Given the description of an element on the screen output the (x, y) to click on. 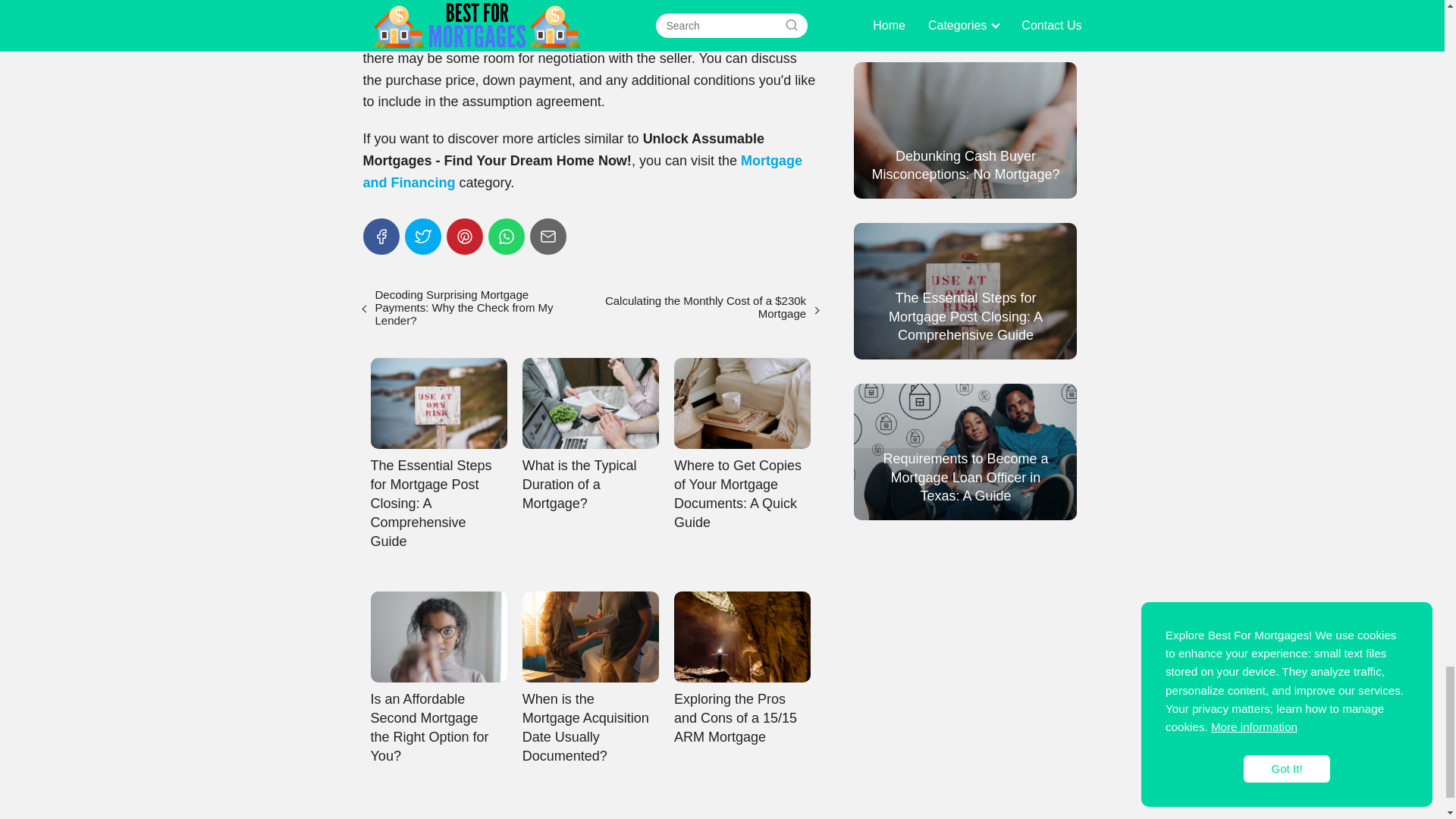
Mortgage and Financing (582, 171)
